Given the description of an element on the screen output the (x, y) to click on. 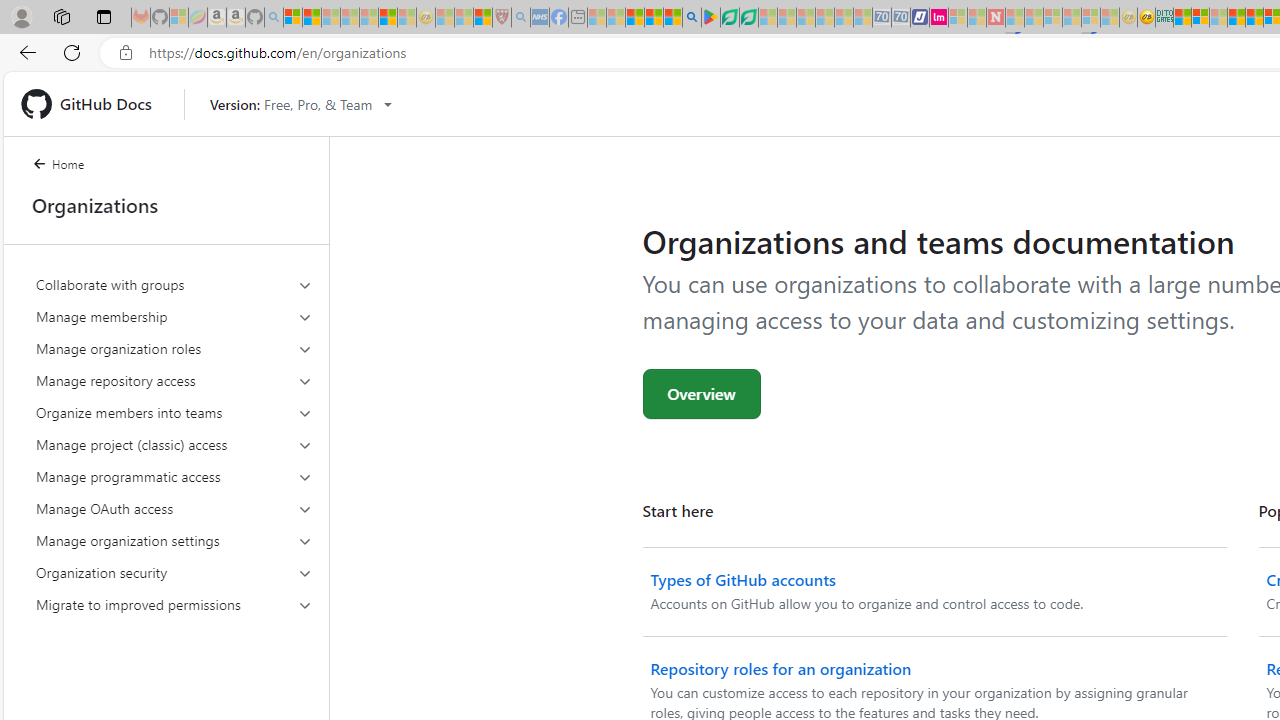
Collaborate with groups (174, 284)
Manage project (classic) access (174, 444)
Microsoft Word - consumer-privacy address update 2.2021 (748, 17)
Manage repository access (174, 380)
Migrate to improved permissions (174, 604)
Organize members into teams (174, 412)
Organizations (166, 205)
Manage programmatic access (174, 476)
